Given the description of an element on the screen output the (x, y) to click on. 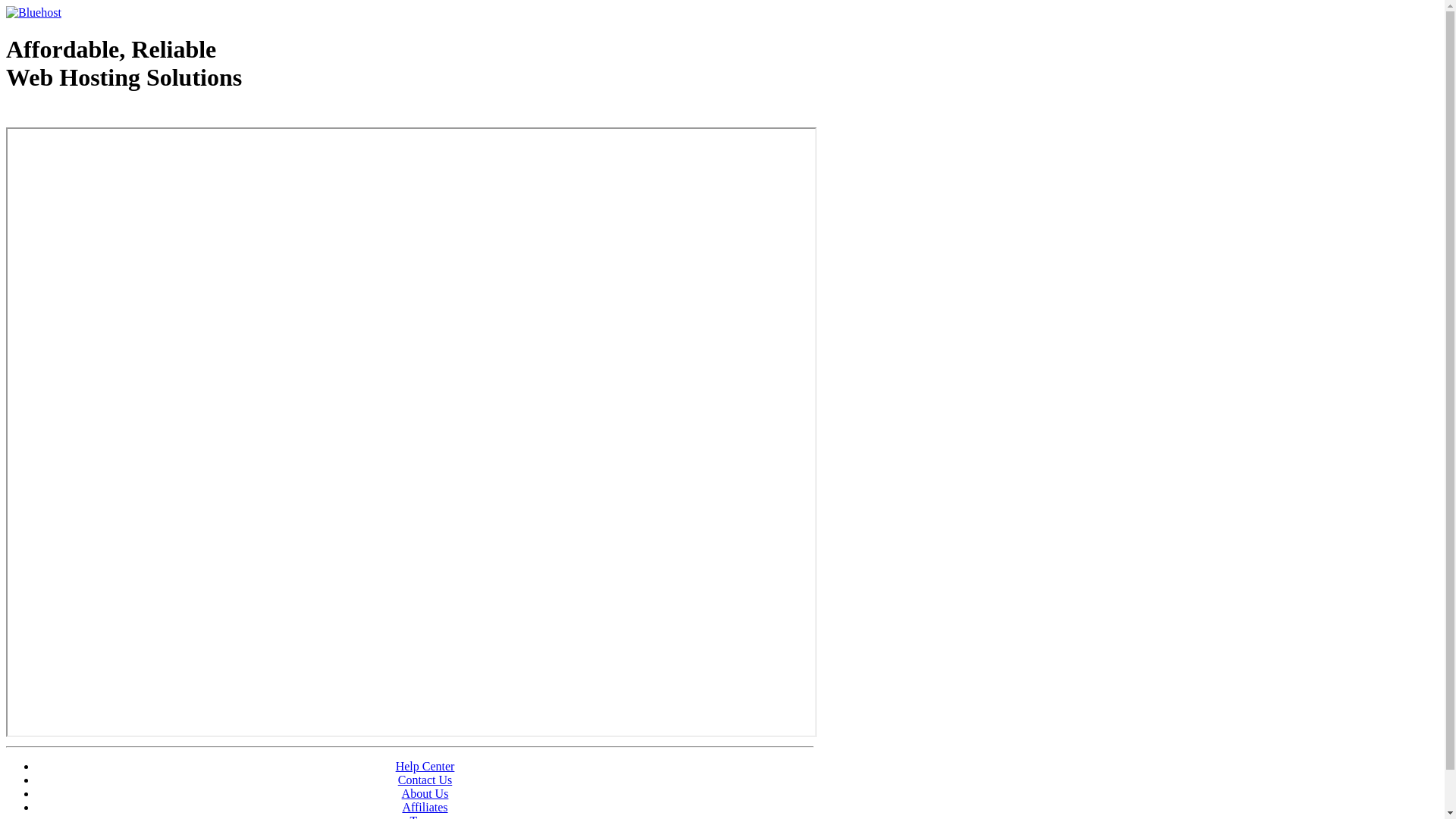
Help Center Element type: text (425, 765)
Affiliates Element type: text (424, 806)
Web Hosting - courtesy of www.bluehost.com Element type: text (94, 115)
About Us Element type: text (424, 793)
Contact Us Element type: text (425, 779)
